Given the description of an element on the screen output the (x, y) to click on. 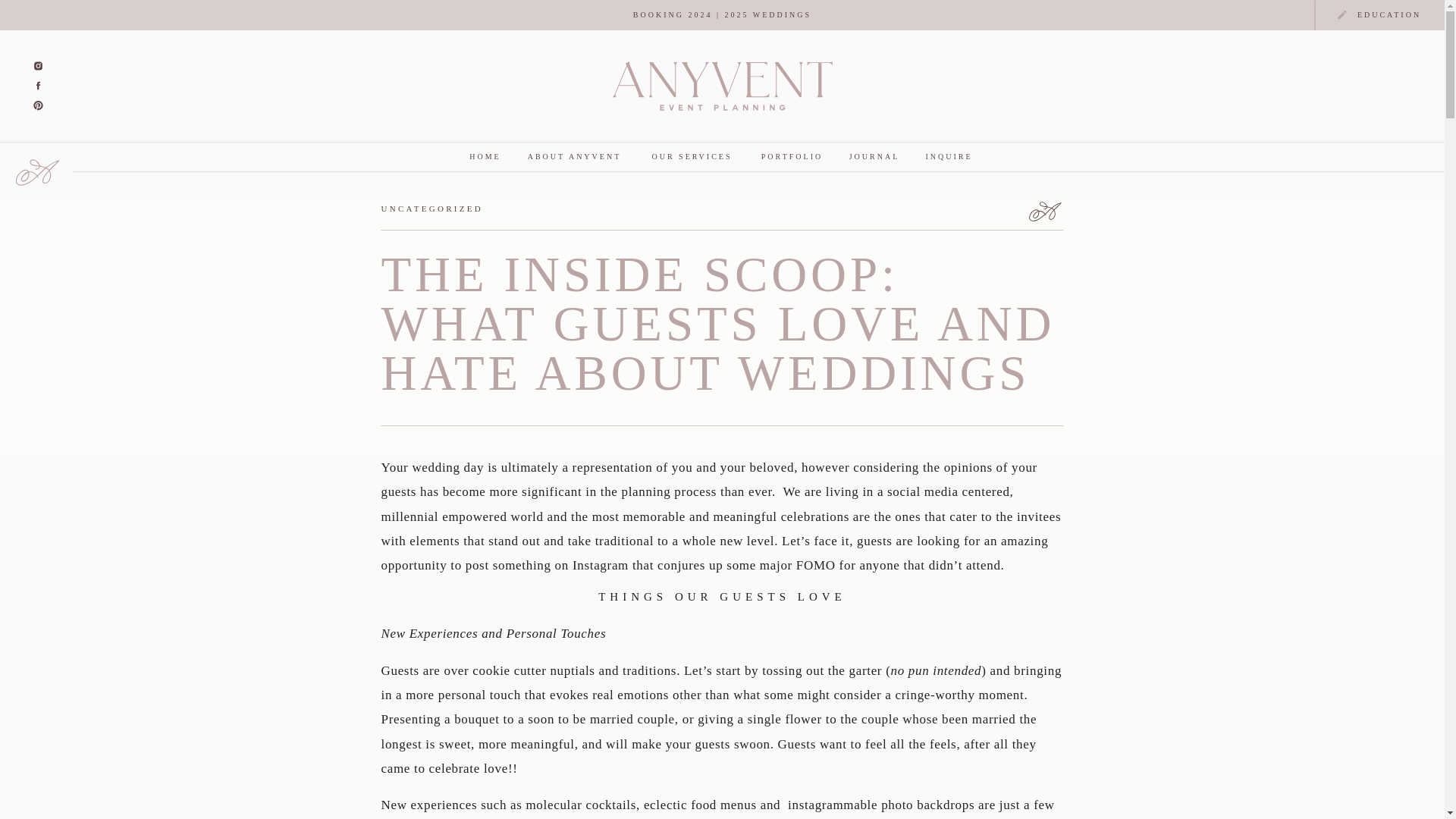
HOME (484, 157)
INQUIRE (948, 157)
ABOUT ANYVENT (573, 157)
UNCATEGORIZED (431, 207)
EDUCATION (1388, 15)
JOURNAL (873, 157)
PORTFOLIO (792, 157)
OUR SERVICES (691, 157)
